Given the description of an element on the screen output the (x, y) to click on. 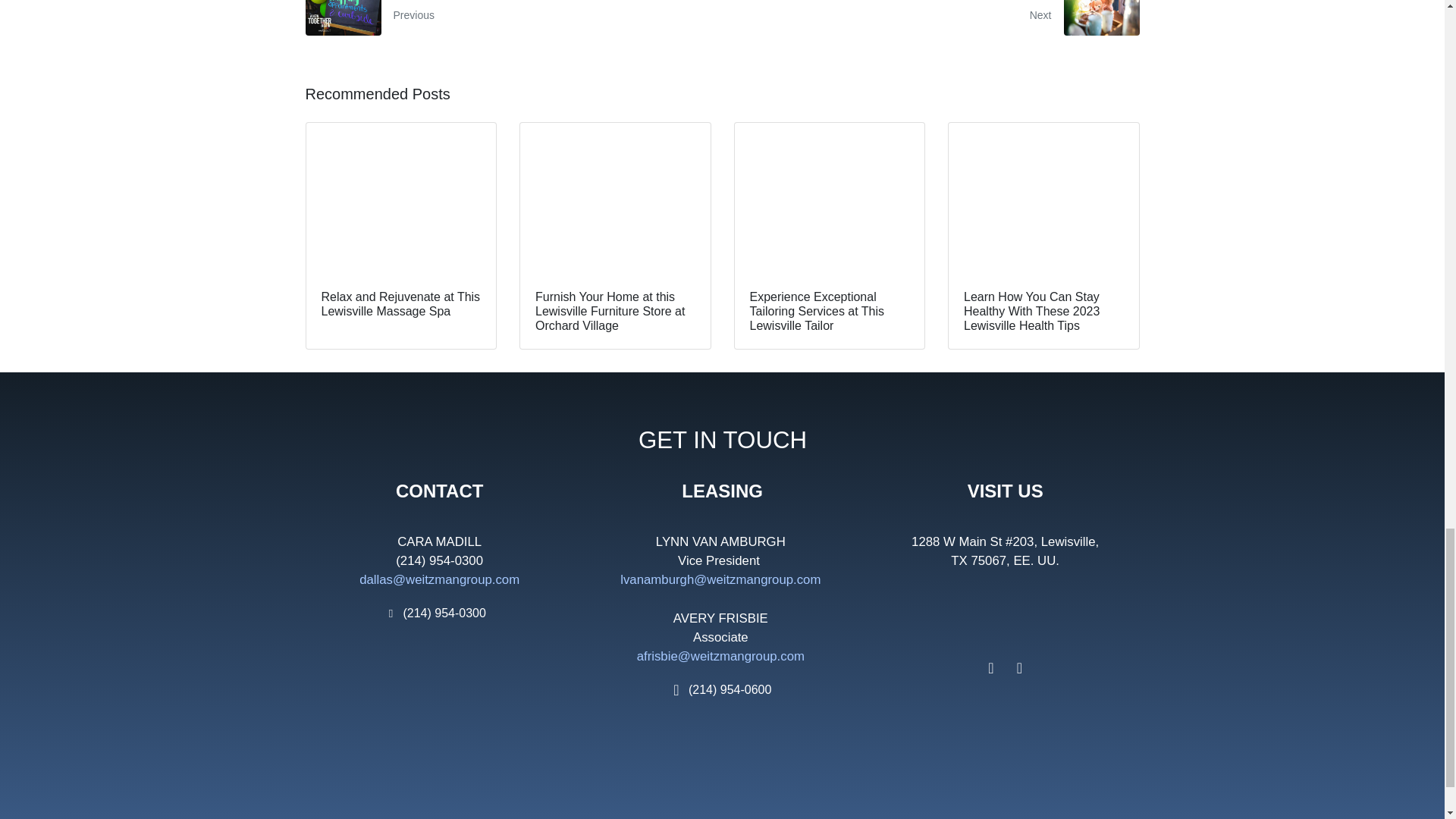
Relax and Rejuvenate at This Lewisville Massage Spa 3 (400, 198)
